Given the description of an element on the screen output the (x, y) to click on. 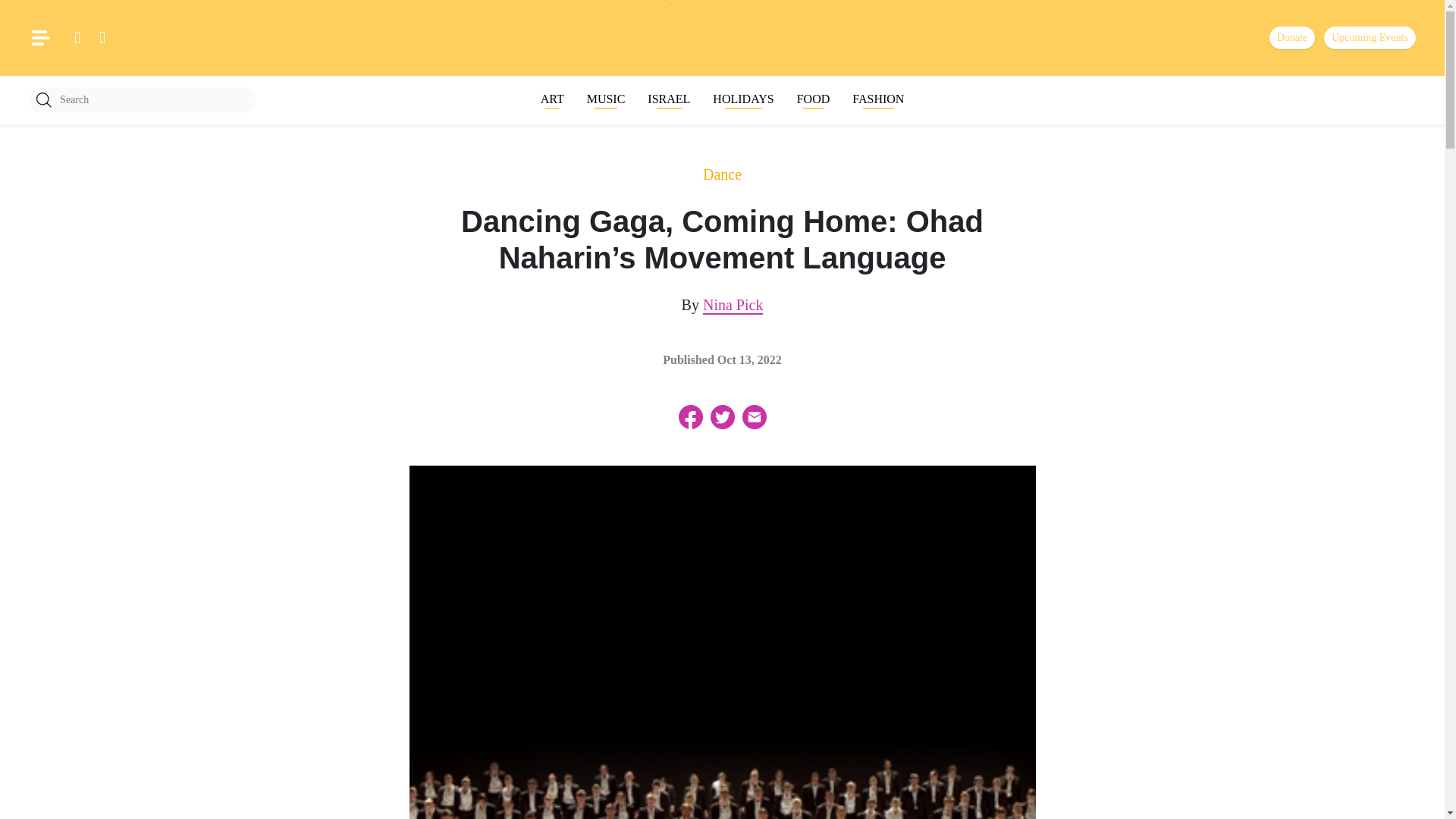
Facebook (689, 416)
Email (753, 416)
Search for: (142, 99)
Twitter (721, 416)
